Given the description of an element on the screen output the (x, y) to click on. 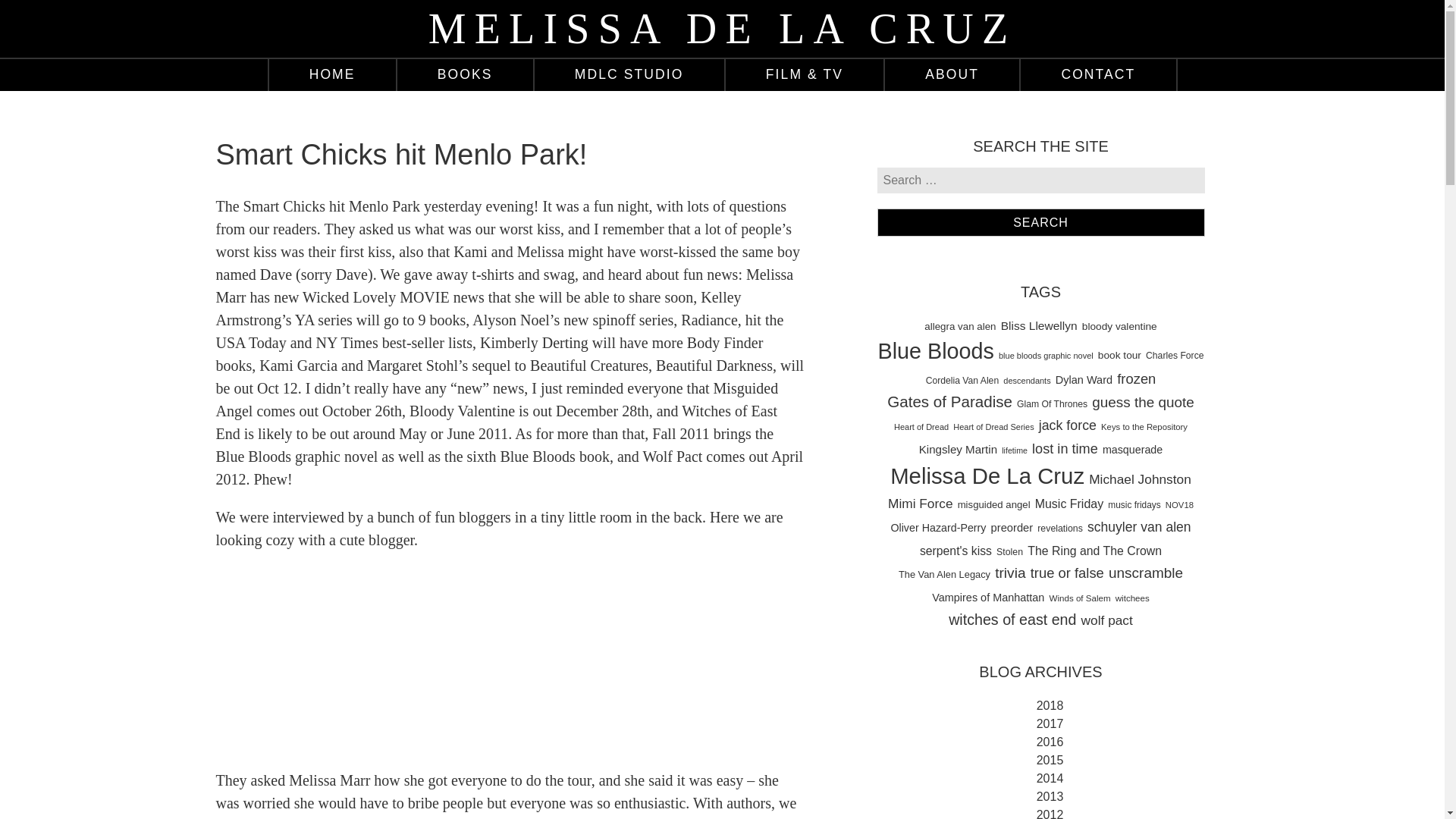
HOME (330, 74)
Search (1040, 221)
Charles Force (1174, 355)
Mimi Force (920, 503)
bloody valentine (1119, 326)
ABOUT (952, 74)
Blue Bloods (934, 350)
Glam Of Thrones (1051, 404)
Search (1040, 221)
CONTACT (1097, 74)
book tour (1119, 355)
2016 (1047, 742)
lifetime (1014, 450)
masquerade (1131, 450)
Bliss Llewellyn (1039, 325)
